Given the description of an element on the screen output the (x, y) to click on. 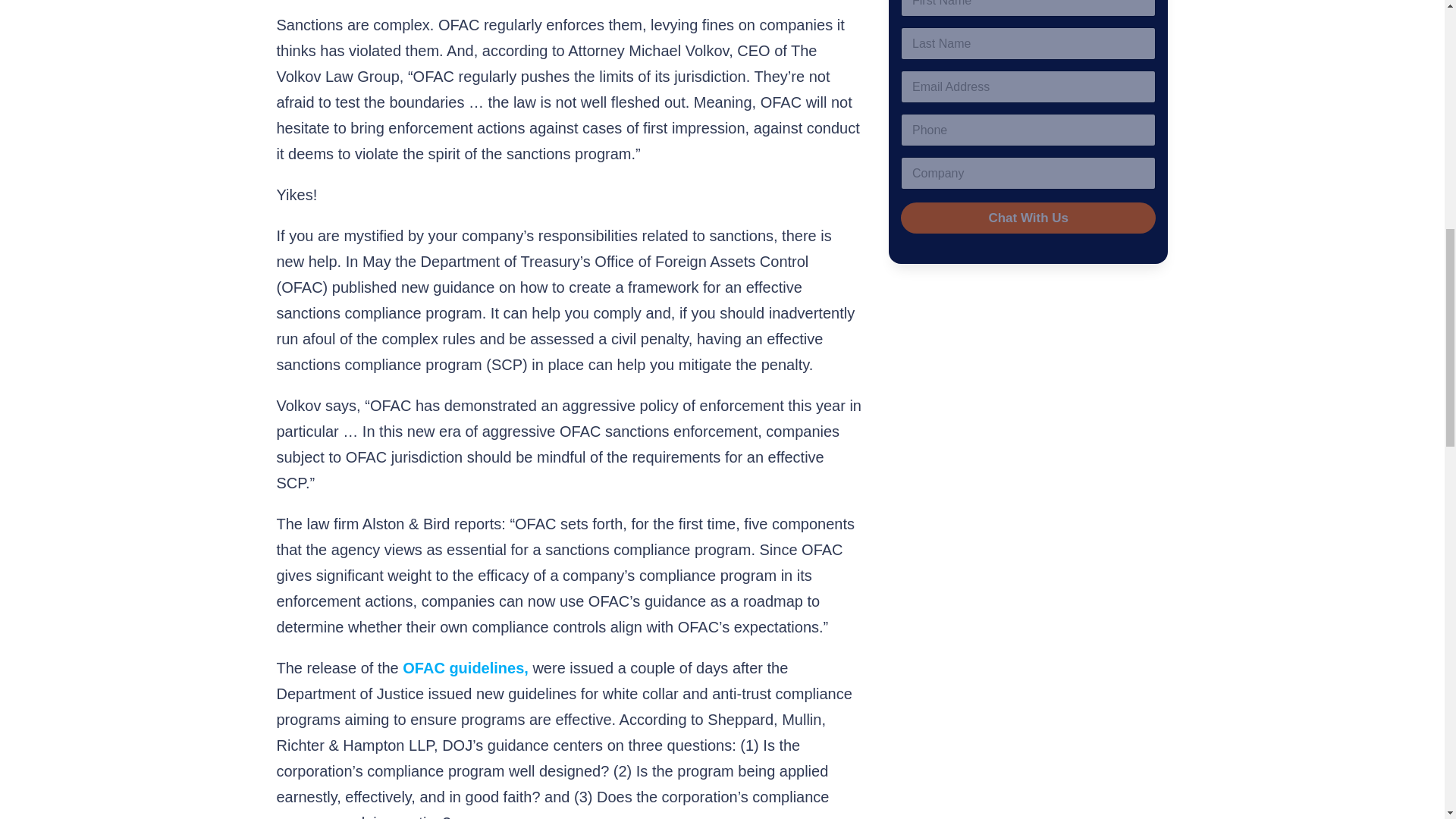
Chat With Us (1028, 217)
OFAC guidelines, (465, 668)
